Given the description of an element on the screen output the (x, y) to click on. 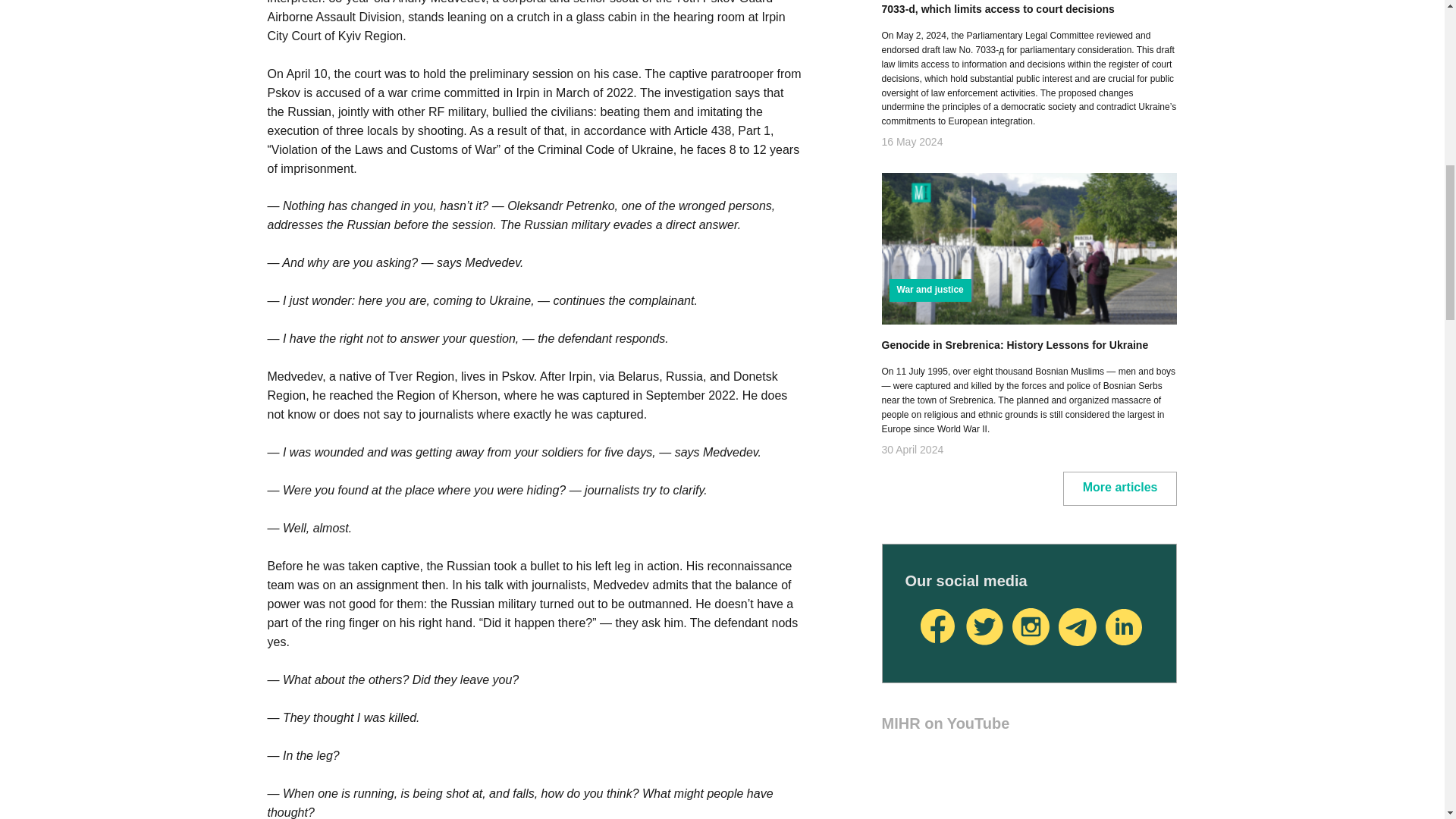
More articles (1119, 488)
